Given the description of an element on the screen output the (x, y) to click on. 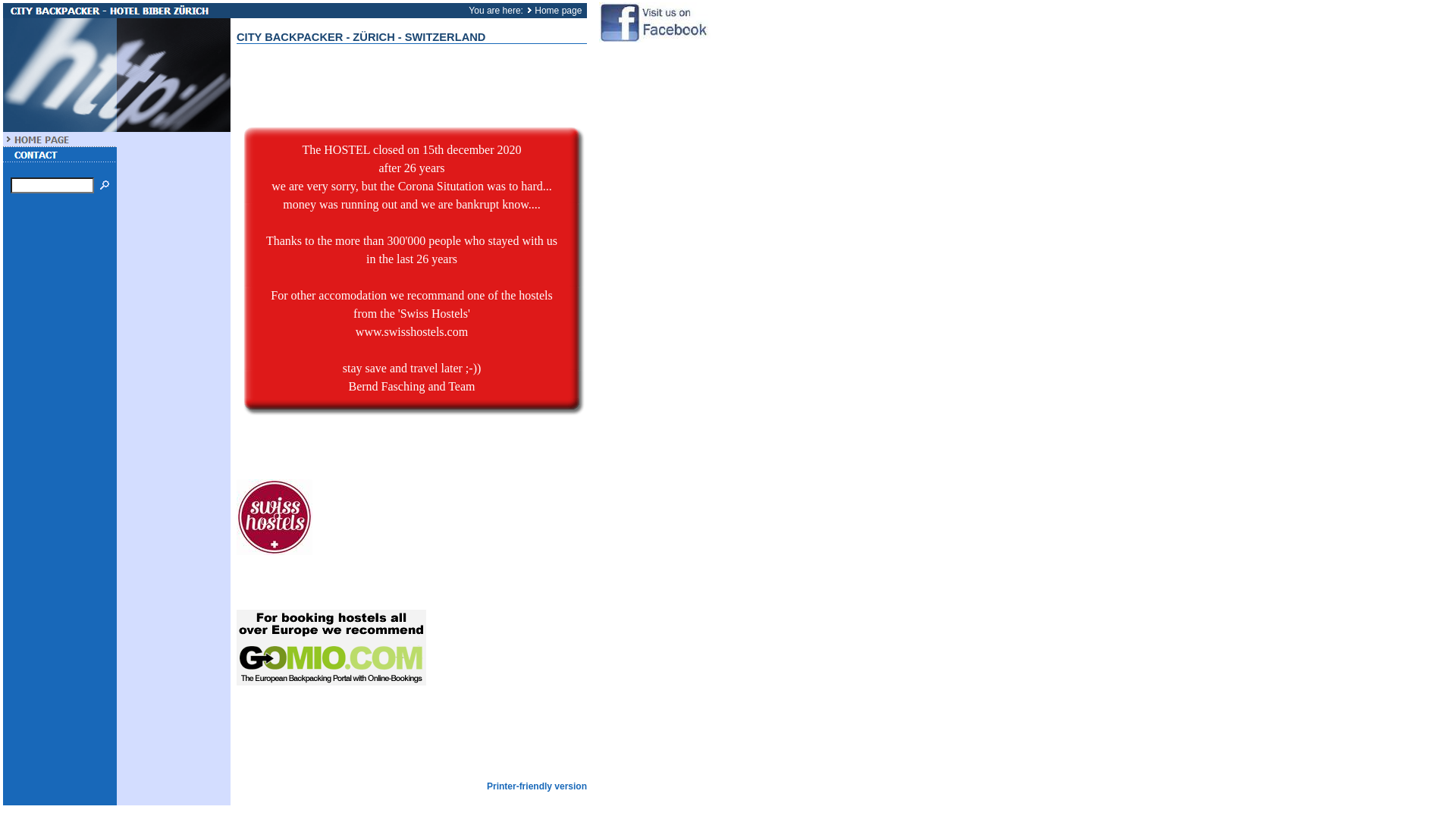
Printer-friendly version Element type: text (536, 786)
Home page Element type: text (557, 10)
